Given the description of an element on the screen output the (x, y) to click on. 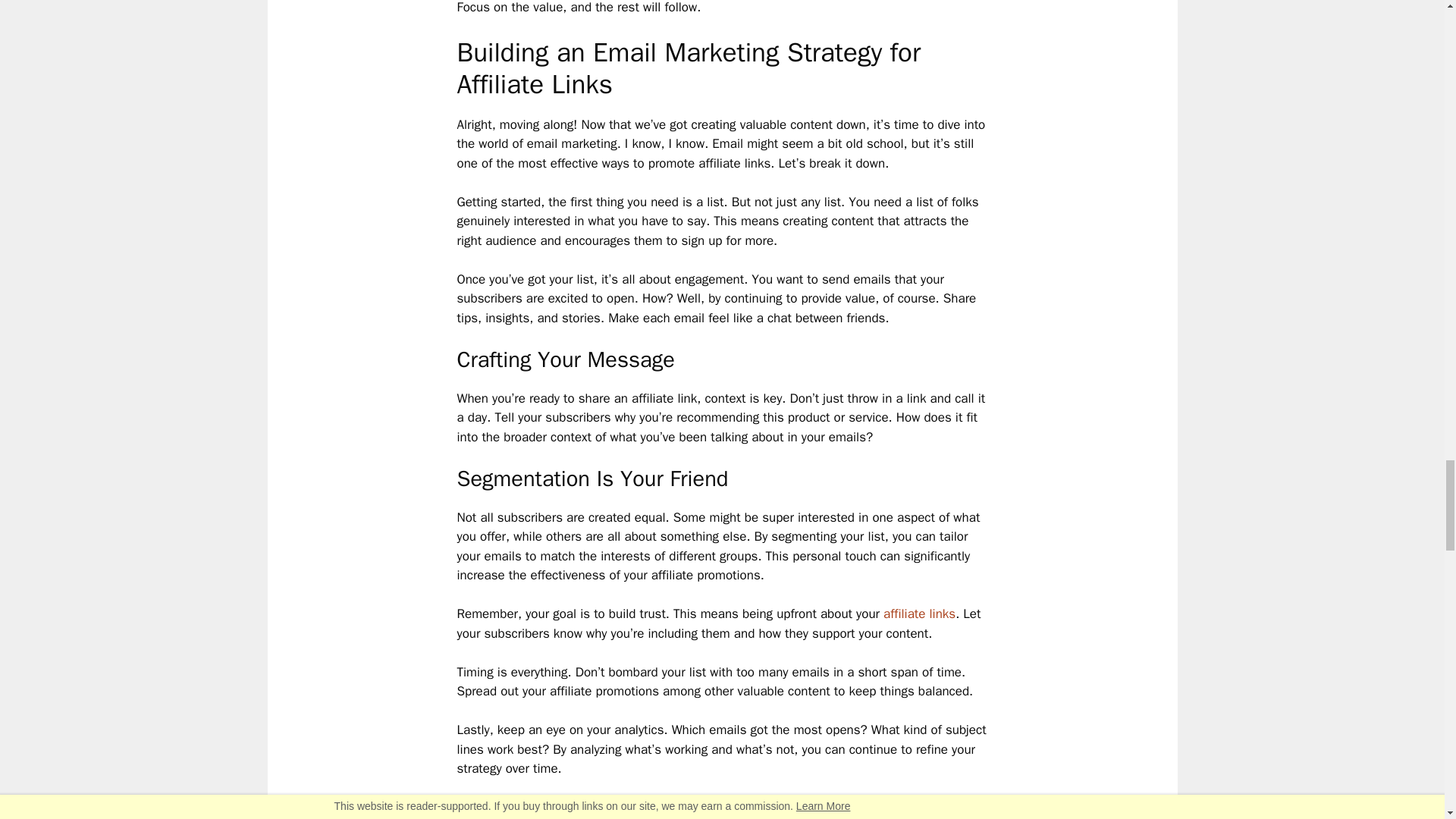
affiliate links (919, 613)
